Given the description of an element on the screen output the (x, y) to click on. 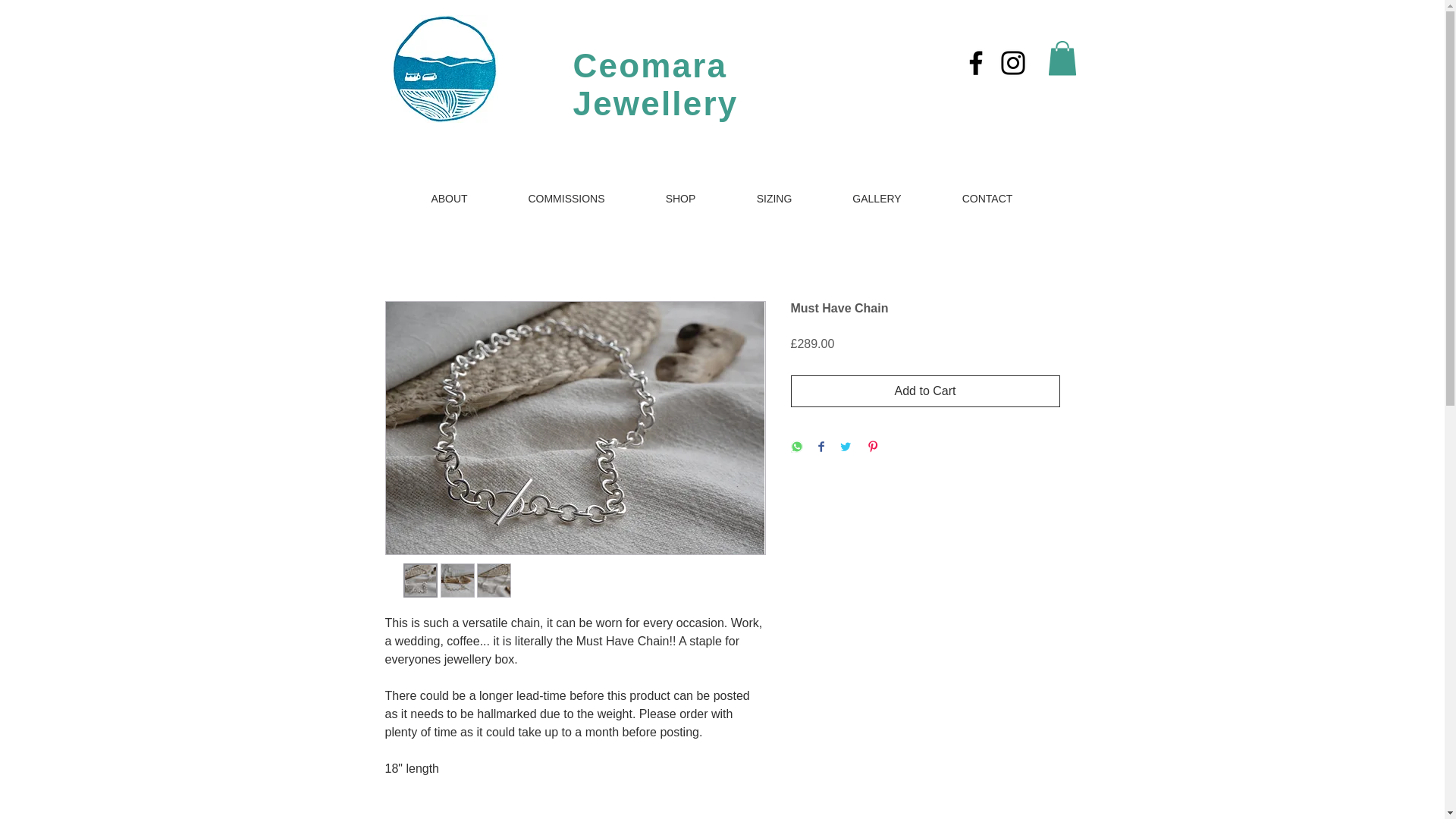
CONTACT (986, 198)
SIZING (774, 198)
COMMISSIONS (565, 198)
ABOUT (448, 198)
SHOP (680, 198)
GALLERY (876, 198)
Ceomara Jewellery  (661, 84)
Add to Cart (924, 391)
